Given the description of an element on the screen output the (x, y) to click on. 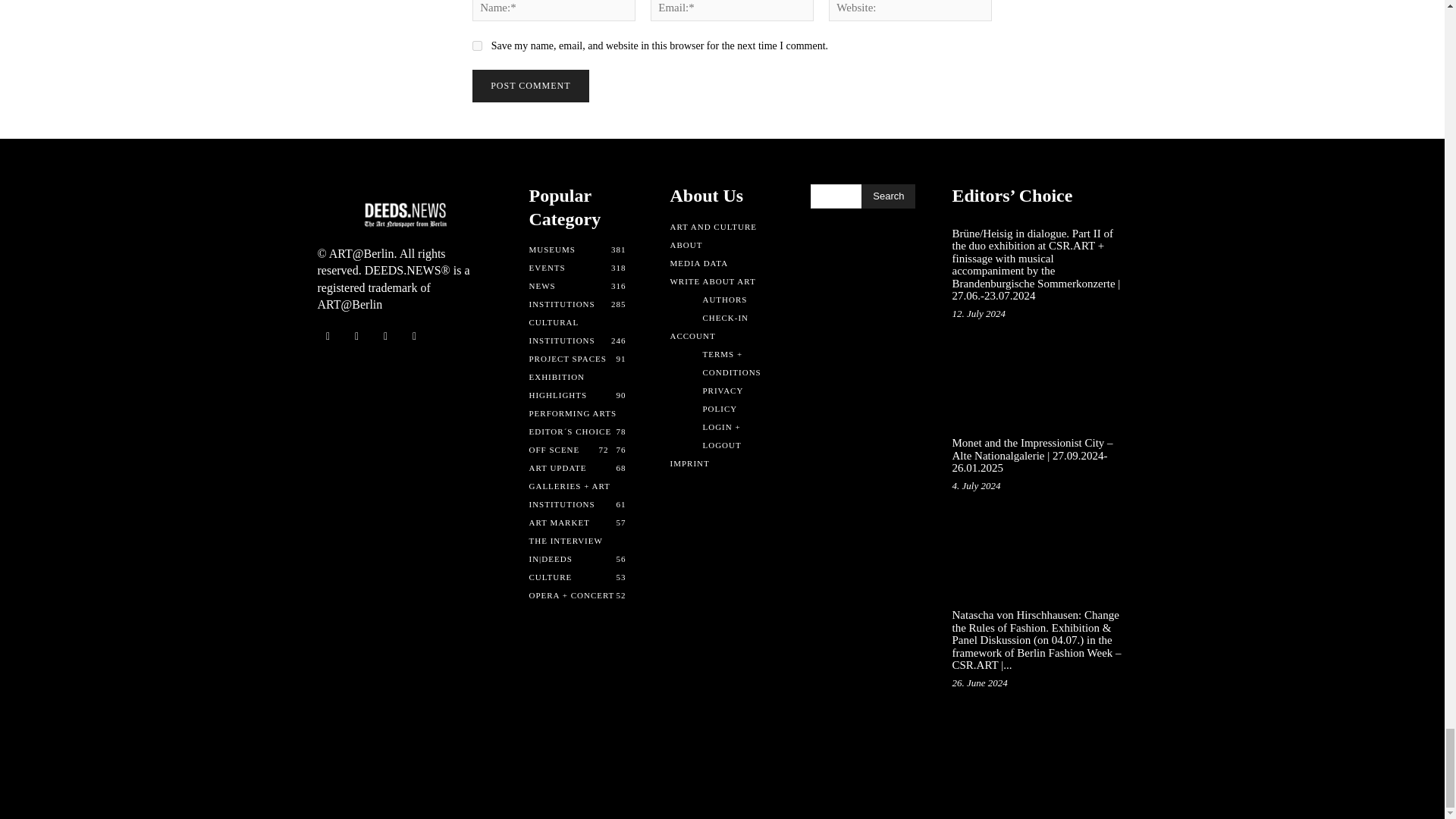
Post Comment (529, 85)
yes (476, 45)
